Given the description of an element on the screen output the (x, y) to click on. 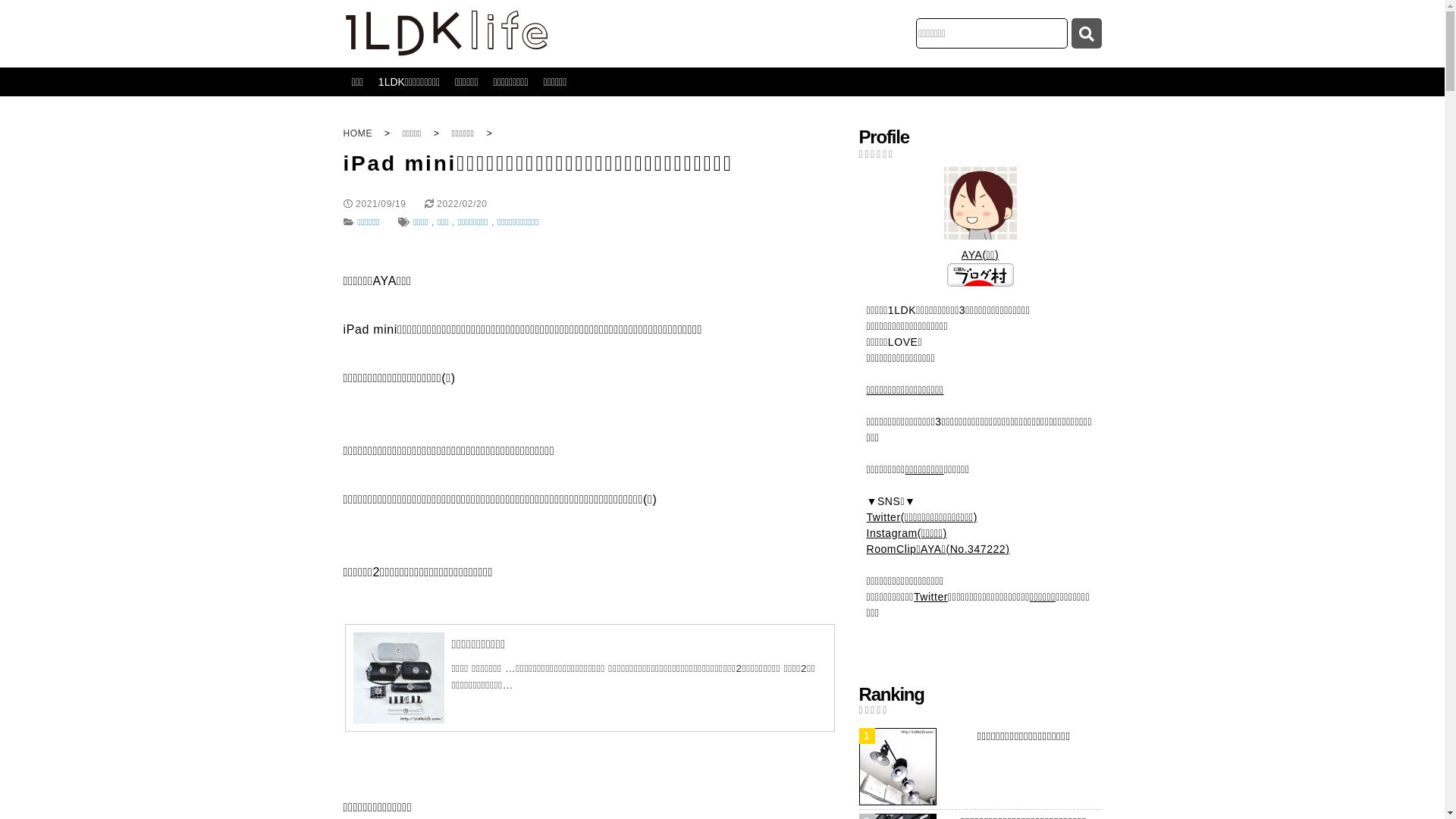
Twitter Element type: text (930, 596)
HOME Element type: text (357, 133)
